Given the description of an element on the screen output the (x, y) to click on. 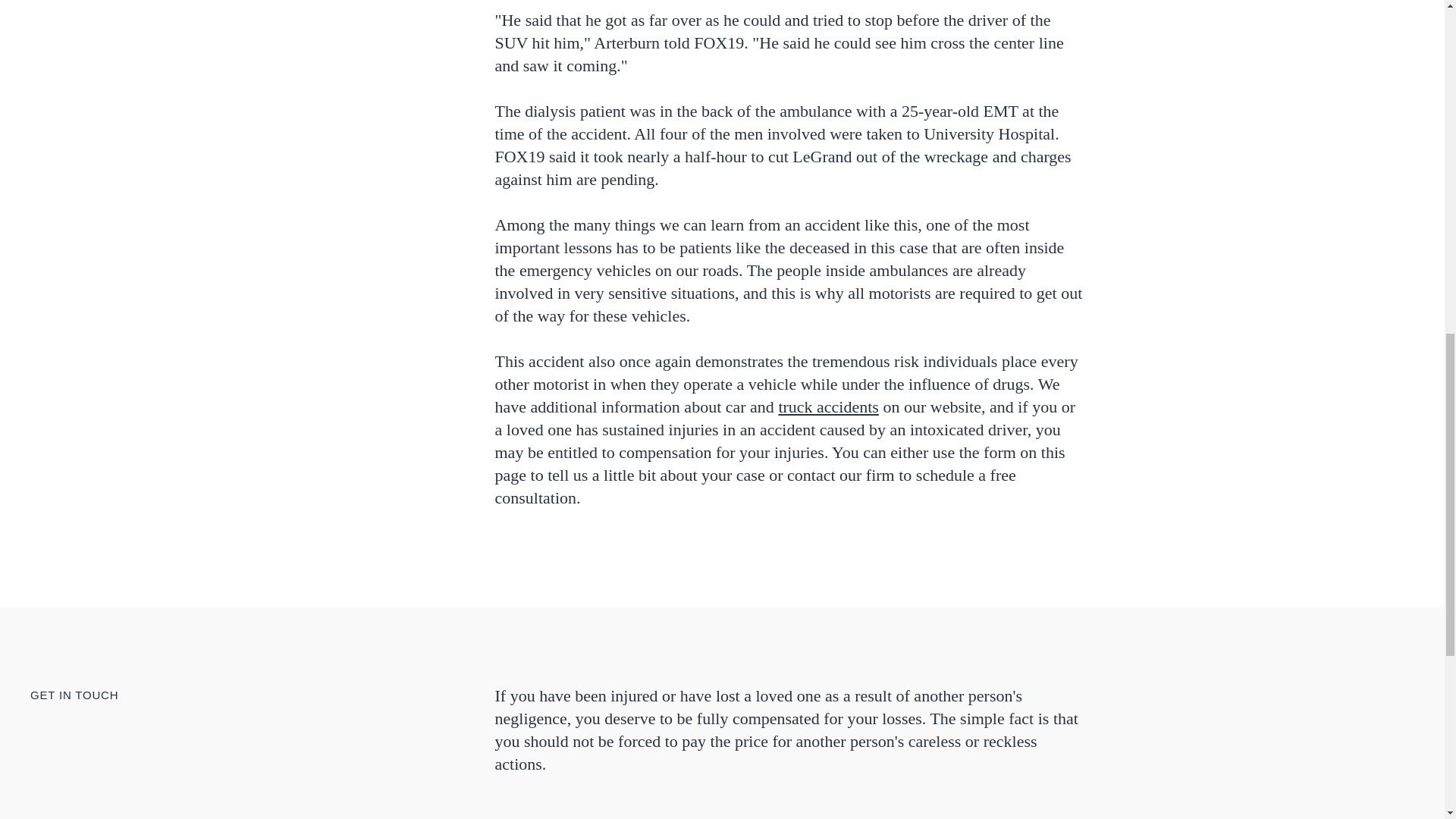
truck accidents (828, 406)
